Given the description of an element on the screen output the (x, y) to click on. 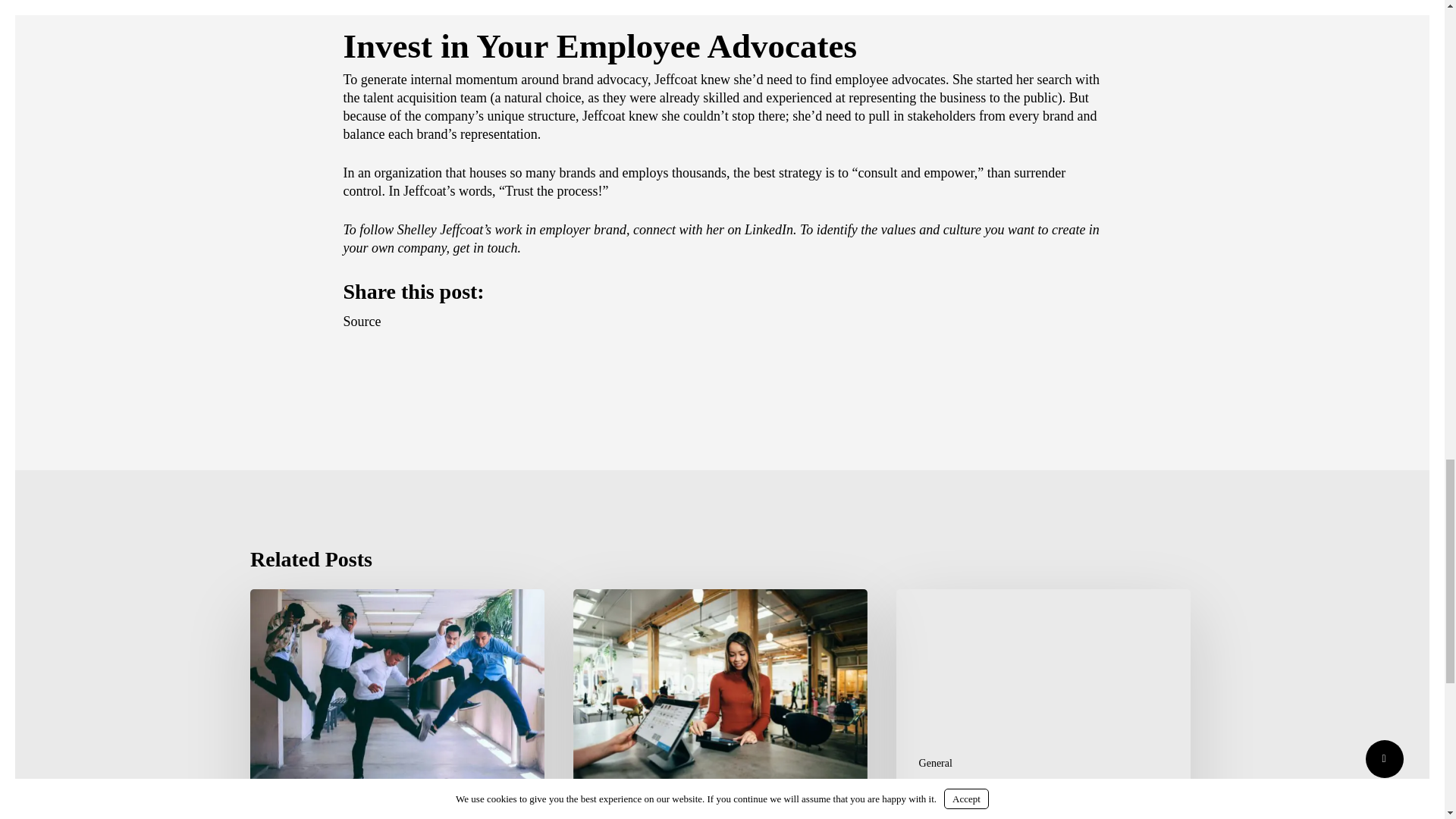
General (935, 762)
General (289, 812)
find employee advocates (876, 79)
Source (361, 321)
General (611, 812)
Evolving the Workplace Through Rebellious Trends (397, 703)
get in touch (484, 247)
The 3 Best Recruiting Chatbots in 2023 (1043, 703)
connect with her on LinkedIn (713, 229)
